Given the description of an element on the screen output the (x, y) to click on. 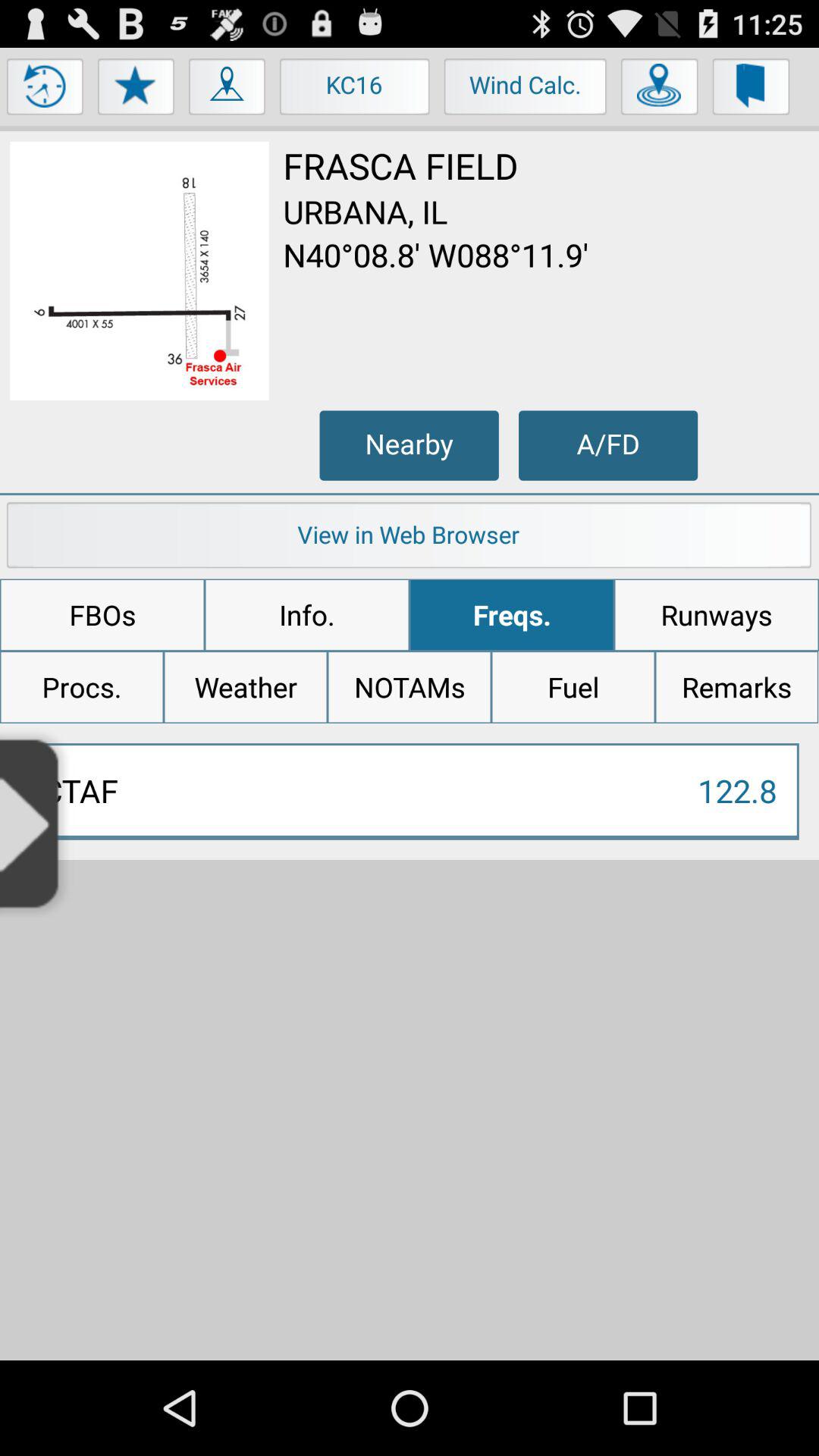
click the button next to the kc16 icon (227, 90)
